Given the description of an element on the screen output the (x, y) to click on. 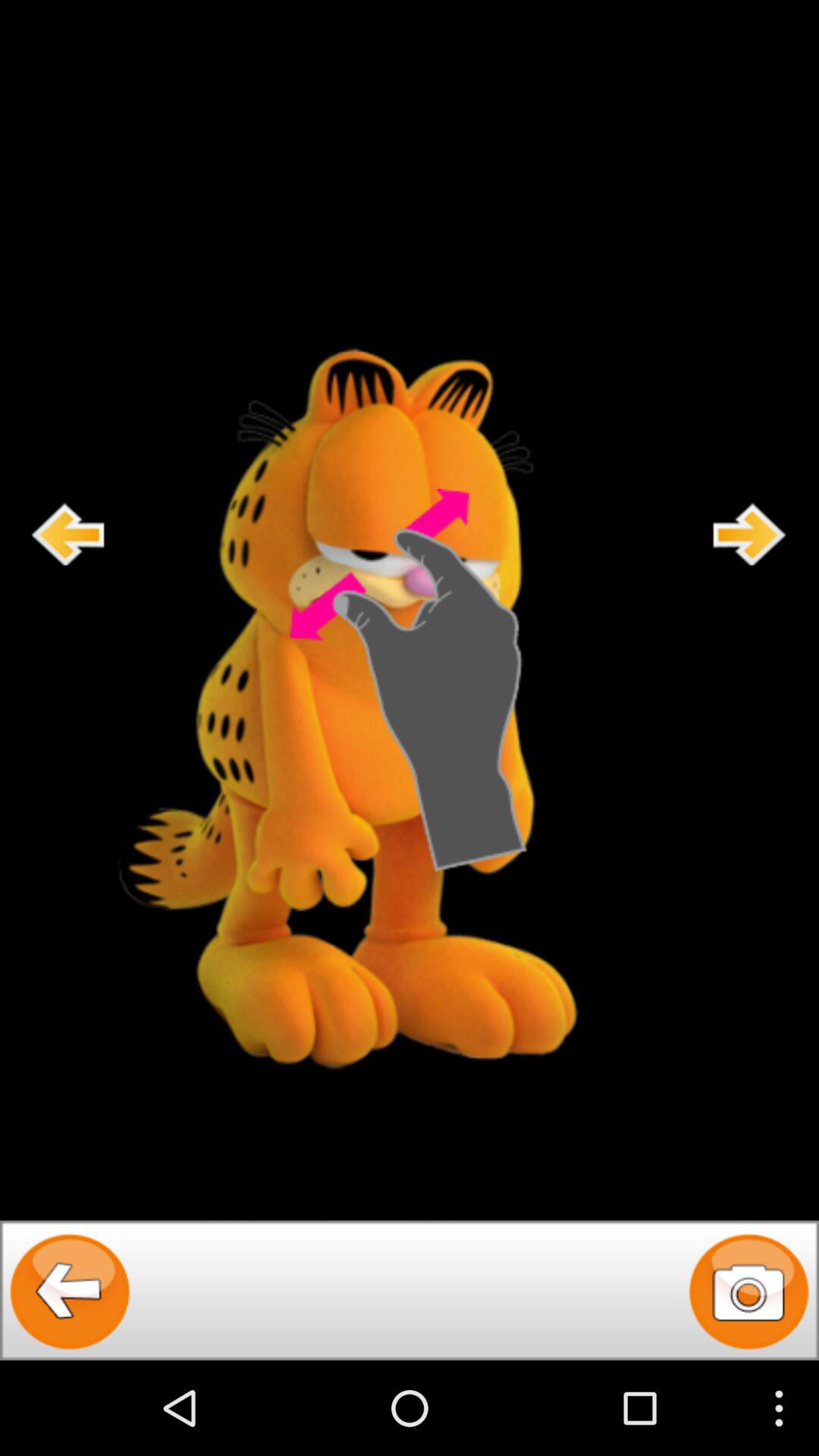
go back (68, 533)
